Given the description of an element on the screen output the (x, y) to click on. 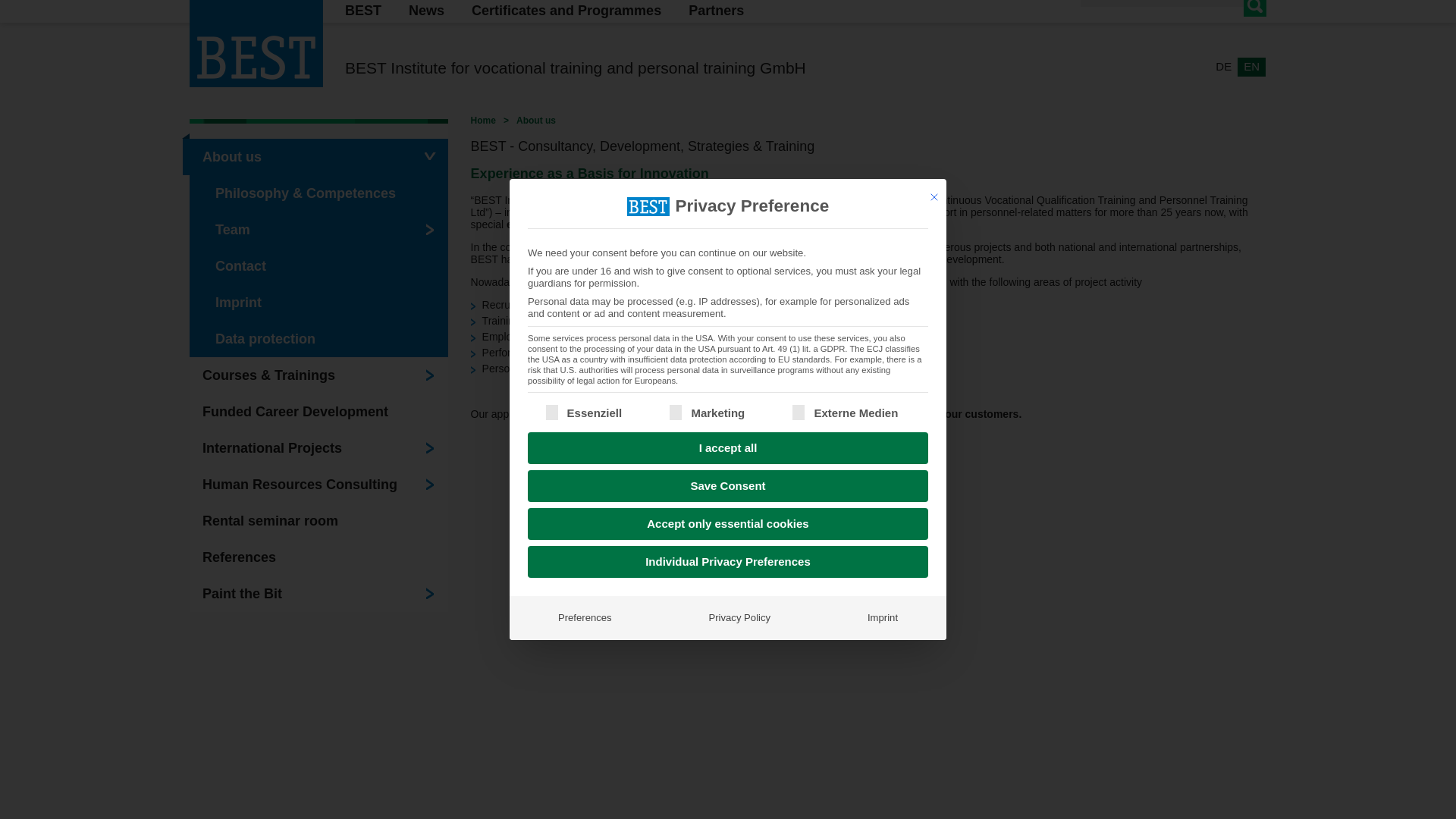
EN (1251, 66)
BEST (362, 11)
Search (1254, 8)
Partners (716, 11)
Search (1254, 8)
Search (1254, 8)
News (426, 11)
DE (1223, 66)
Certificates and Programmes (566, 11)
